Given the description of an element on the screen output the (x, y) to click on. 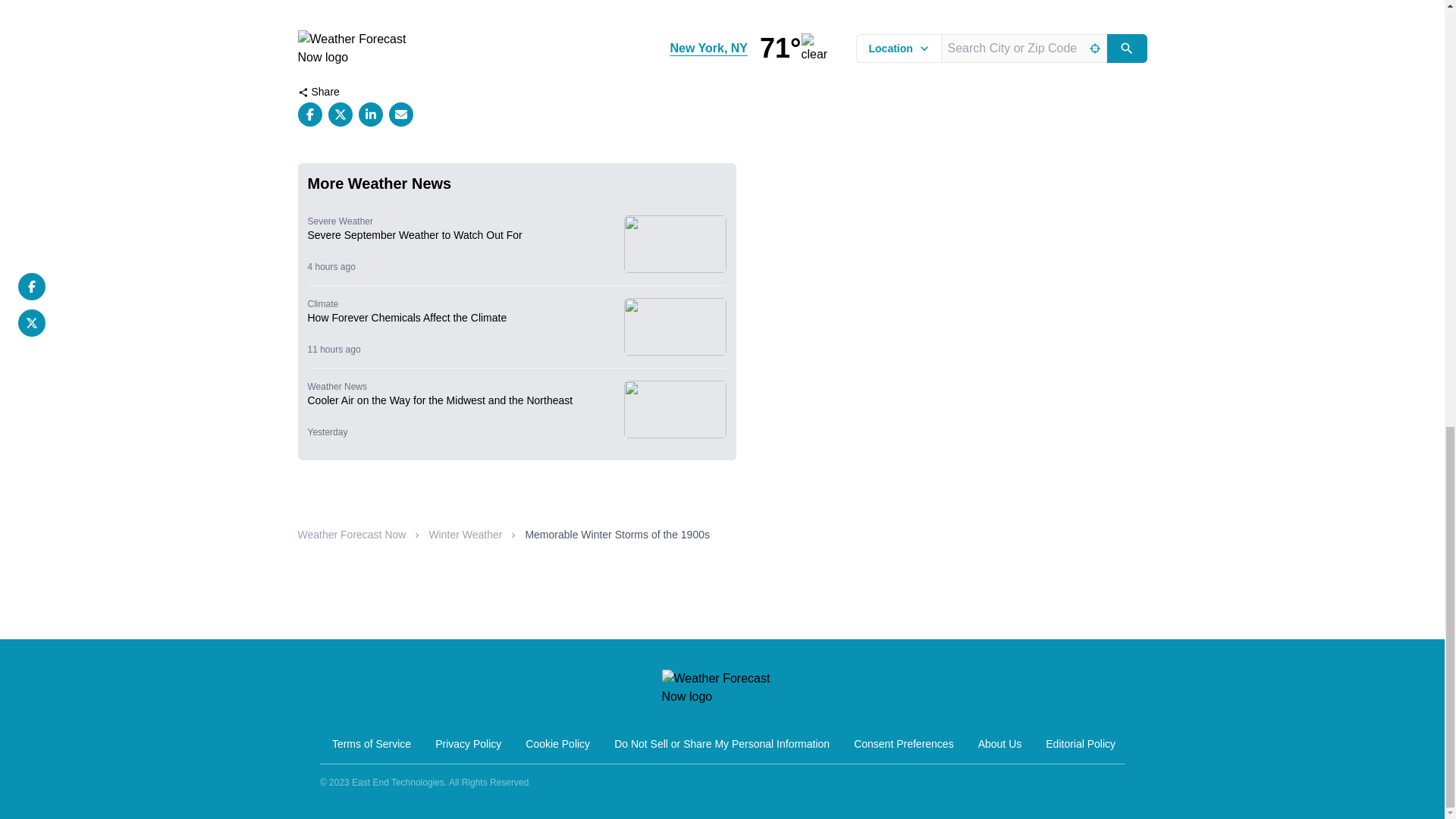
Memorable Winter Storms of the 1900s (617, 534)
severe weather (430, 53)
Terms of Service (371, 743)
Weather Forecast Now (351, 534)
winter storms (518, 53)
winter weather (338, 53)
Winter Weather (465, 534)
